Given the description of an element on the screen output the (x, y) to click on. 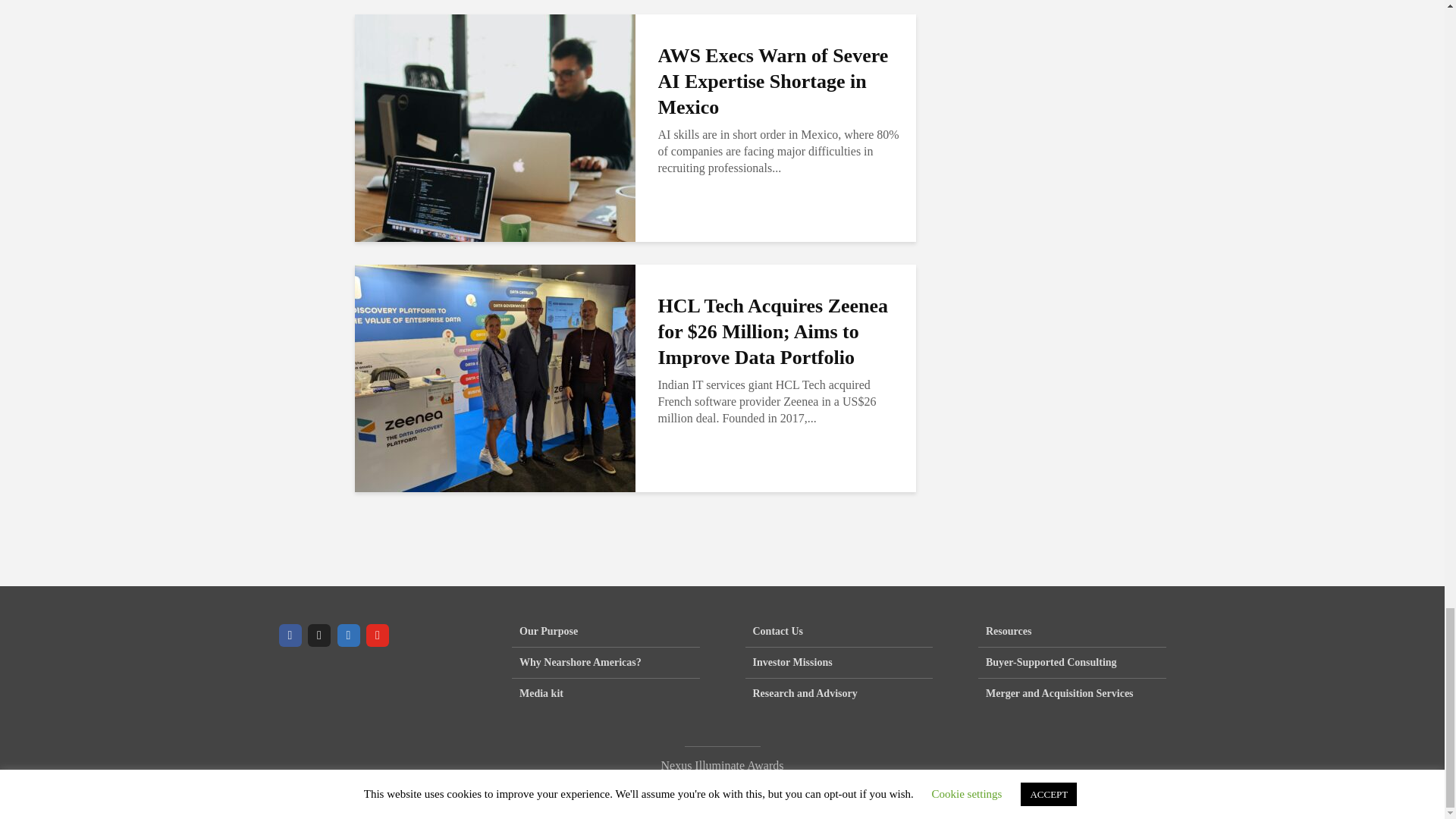
AWS Execs Warn of Severe AI Expertise Shortage in Mexico (494, 126)
Linkedin (347, 635)
Facebook (290, 635)
YouTube (377, 635)
